Given the description of an element on the screen output the (x, y) to click on. 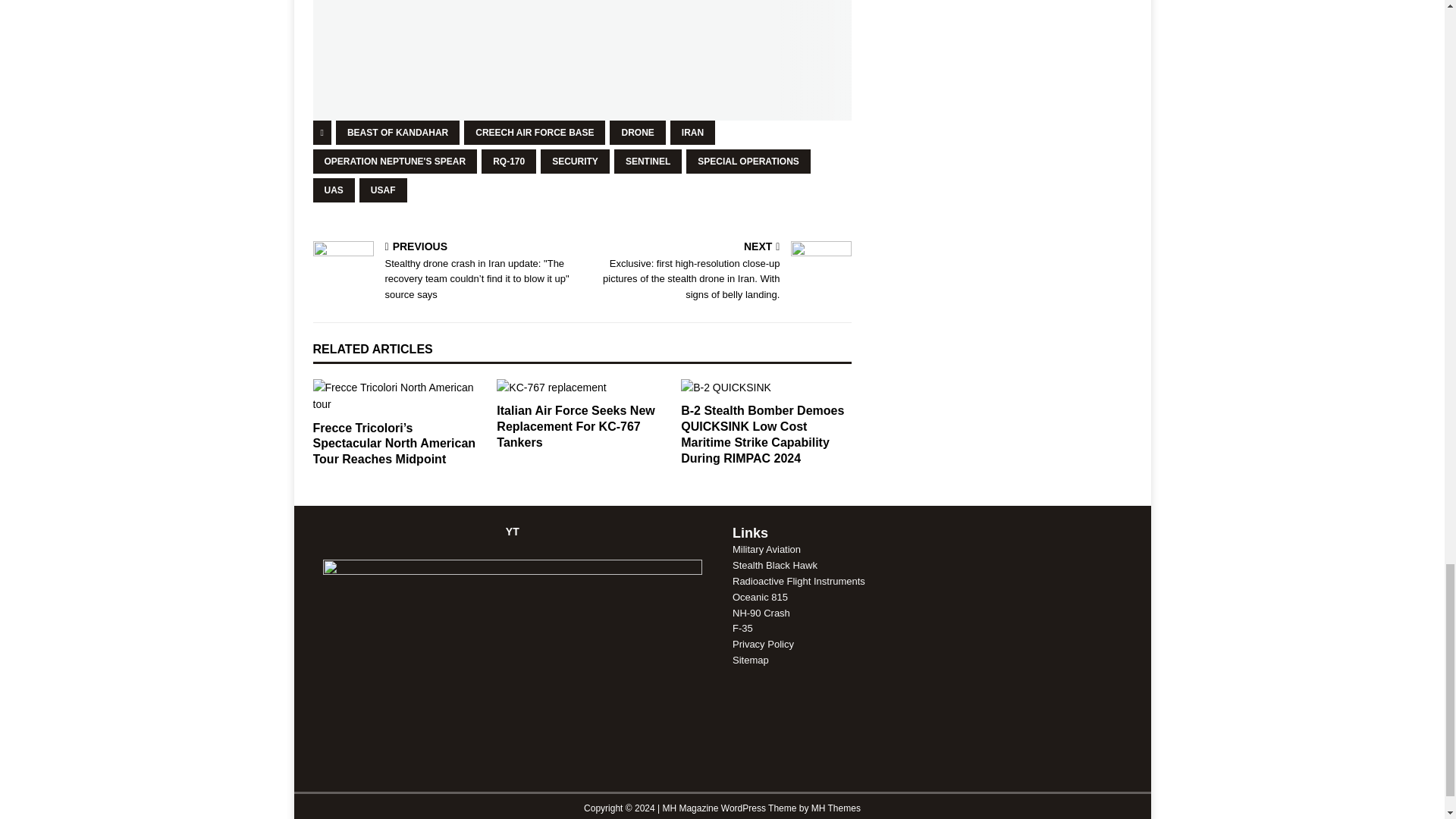
DRONE (637, 132)
IRAN (691, 132)
SECURITY (575, 161)
BEAST OF KANDAHAR (398, 132)
SENTINEL (647, 161)
RQ-170 (508, 161)
OPERATION NEPTUNE'S SPEAR (395, 161)
CREECH AIR FORCE BASE (534, 132)
